Given the description of an element on the screen output the (x, y) to click on. 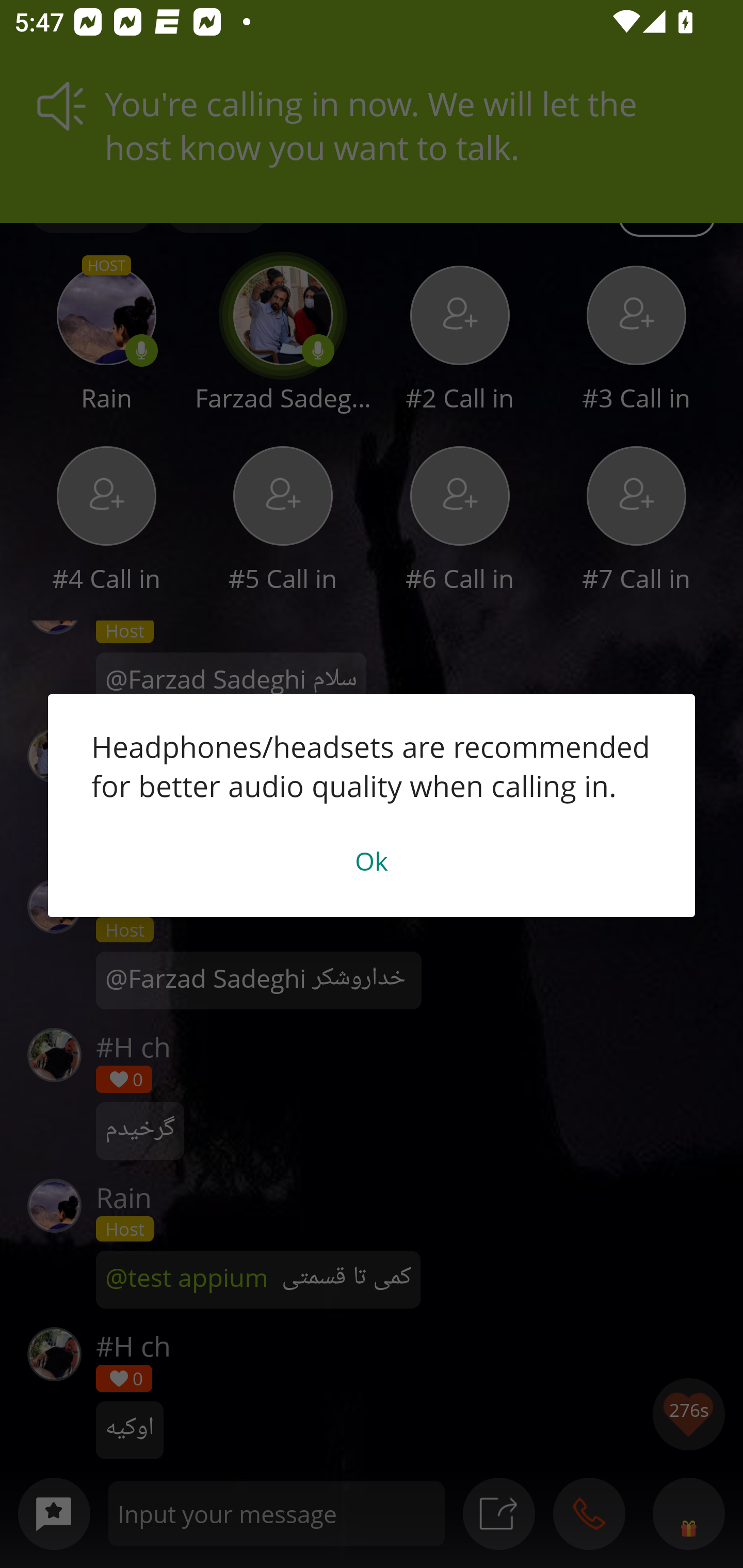
Ok (371, 860)
